Given the description of an element on the screen output the (x, y) to click on. 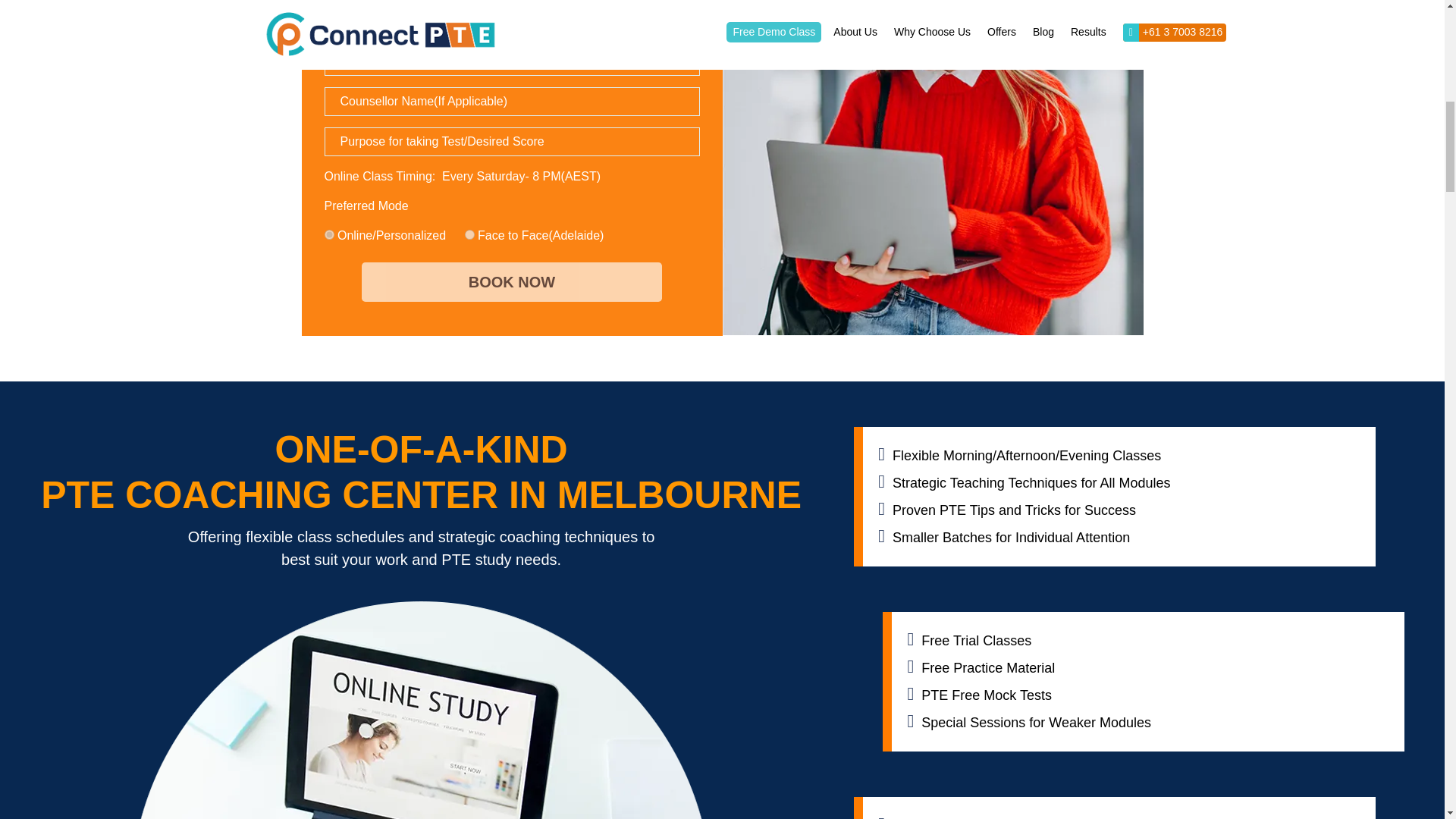
BOOK NOW (511, 282)
online (329, 234)
byface (469, 234)
